Given the description of an element on the screen output the (x, y) to click on. 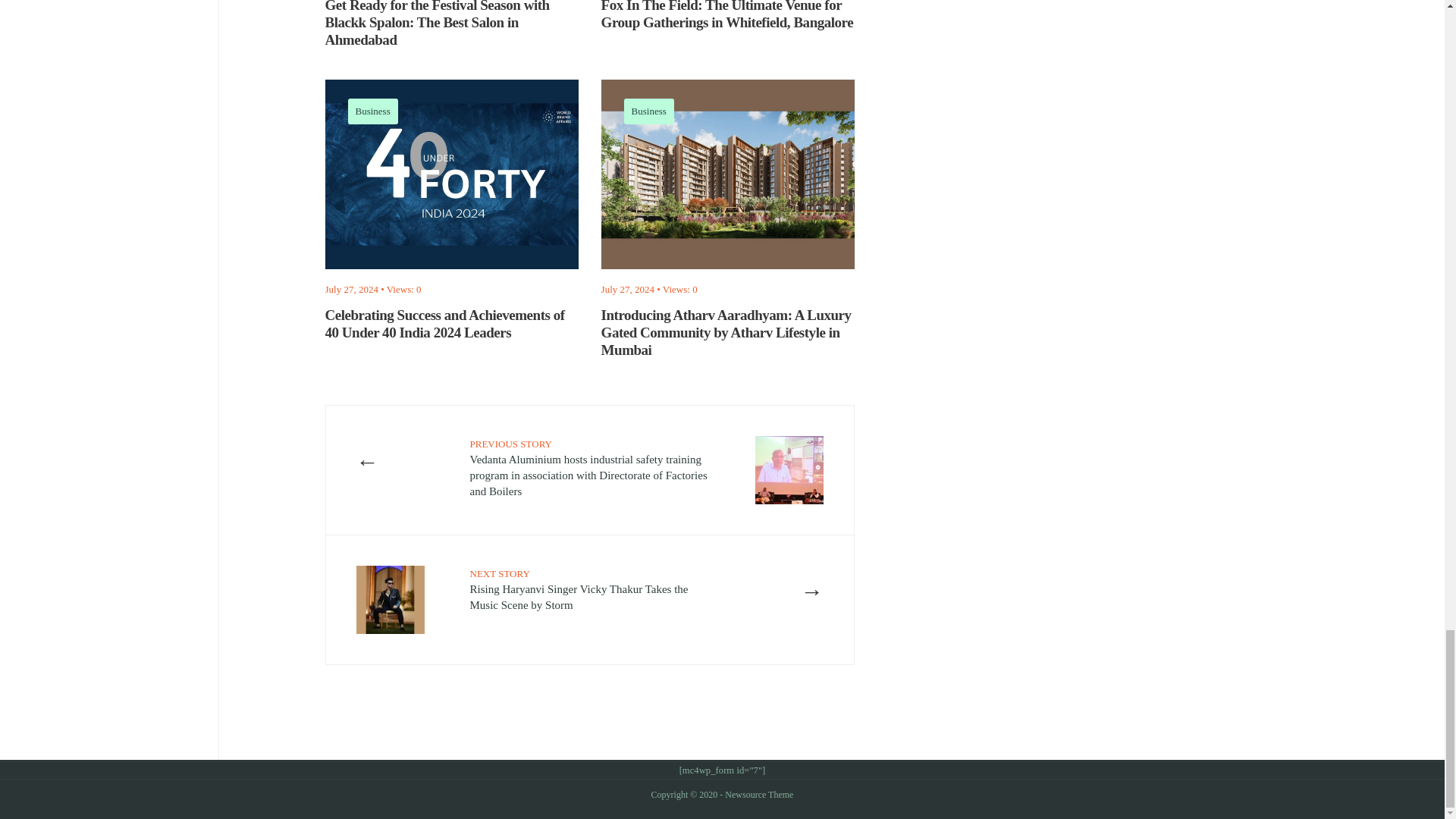
Business (372, 111)
Business (648, 111)
